Given the description of an element on the screen output the (x, y) to click on. 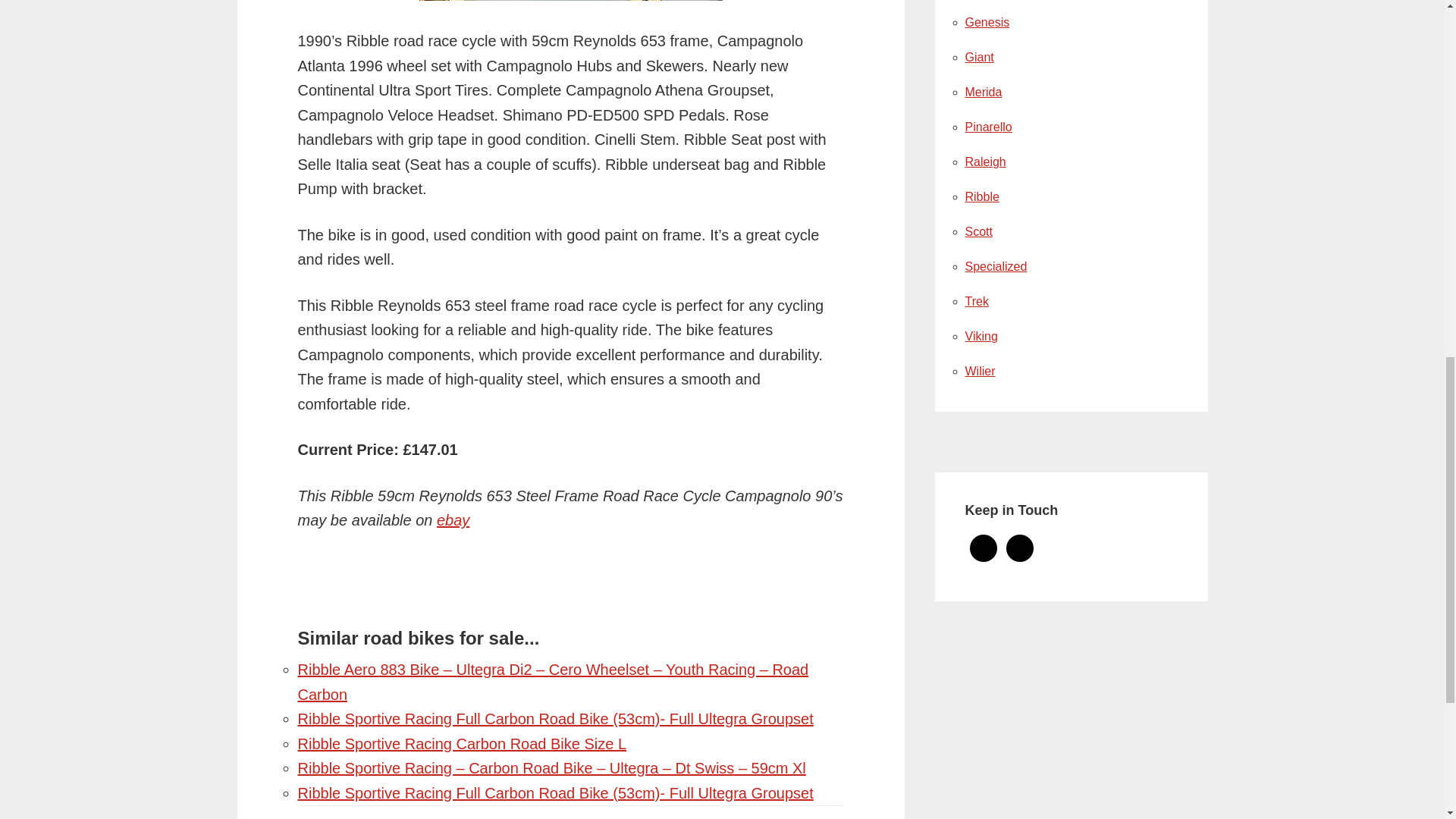
Pinarello (987, 126)
Ribble (980, 196)
Raleigh (984, 161)
Scott (977, 231)
Merida (982, 91)
See the Ribble Sportive Racing Carbon Road Bike Size L (461, 743)
Genesis (986, 21)
ebay (452, 519)
Specialized (994, 266)
Giant (977, 56)
Ribble Sportive Racing Carbon Road Bike Size L (461, 743)
